Given the description of an element on the screen output the (x, y) to click on. 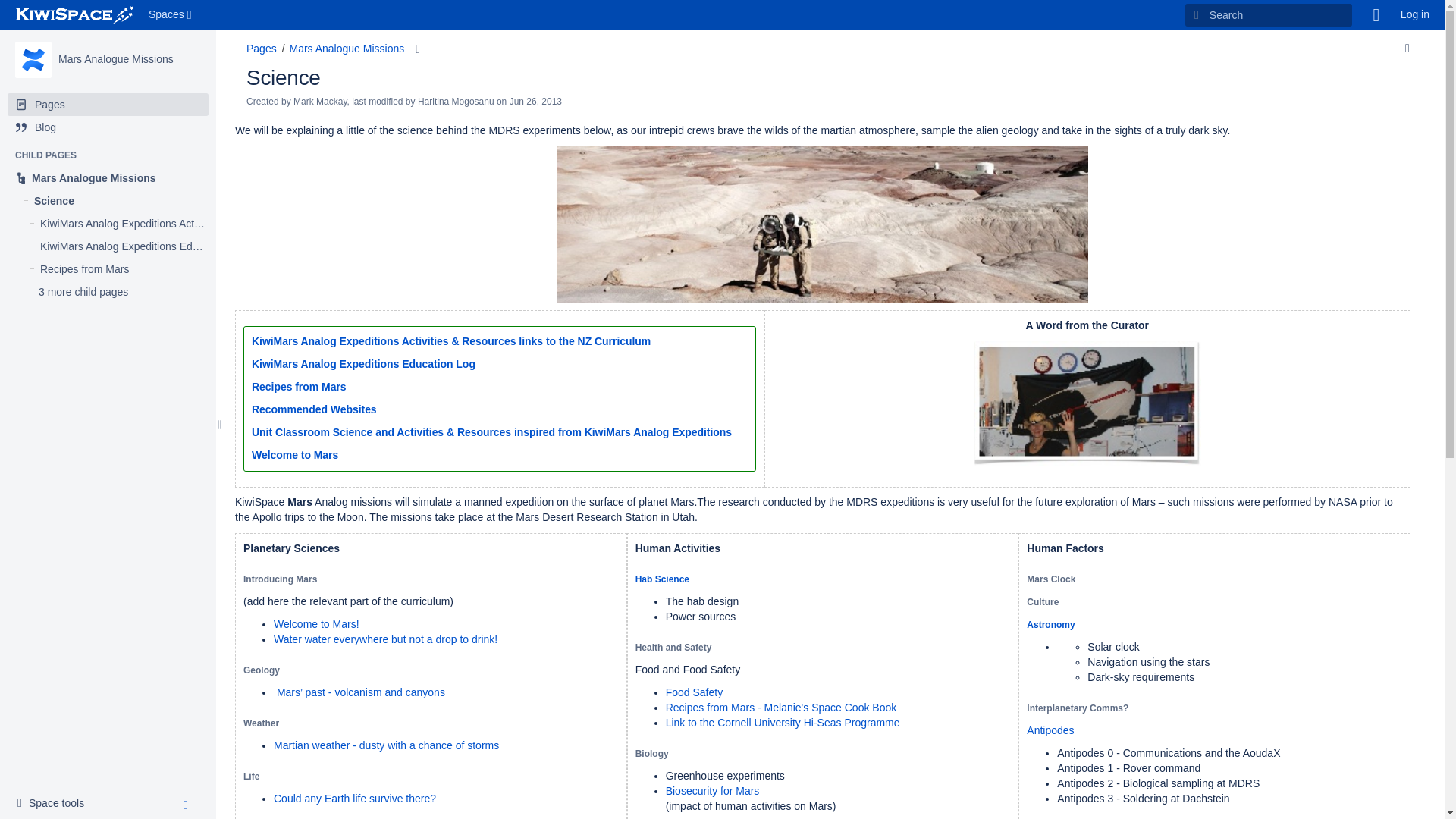
Mars Analogue Missions (32, 59)
Mars Analogue Missions (107, 178)
Mars Analogue Missions (115, 59)
Spaces (171, 15)
KiwiMars Analog Expeditions Education Log (122, 246)
Mars Analogue Missions (107, 178)
Mars Analogue Missions (115, 59)
Help (1376, 15)
Pages (261, 48)
Pages (107, 104)
Log in (1415, 15)
Blog (54, 803)
KiwiMars Analog Expeditions Education Log (107, 127)
Help (122, 246)
